Given the description of an element on the screen output the (x, y) to click on. 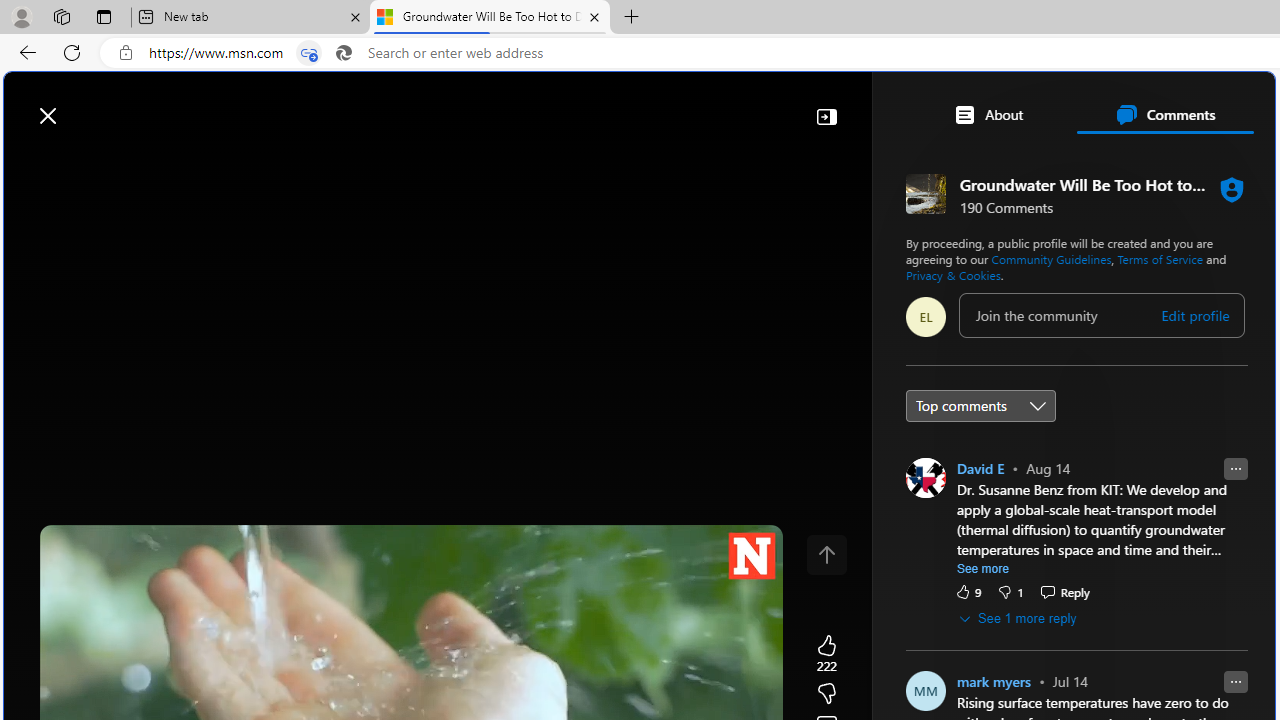
Watch (257, 162)
See 1 more reply (1018, 618)
Class: control icon-only (826, 554)
9 Like (967, 591)
Privacy & Cookies (952, 273)
Tabs in split screen (308, 53)
Edit profile (1195, 315)
Sort comments by (980, 404)
